Given the description of an element on the screen output the (x, y) to click on. 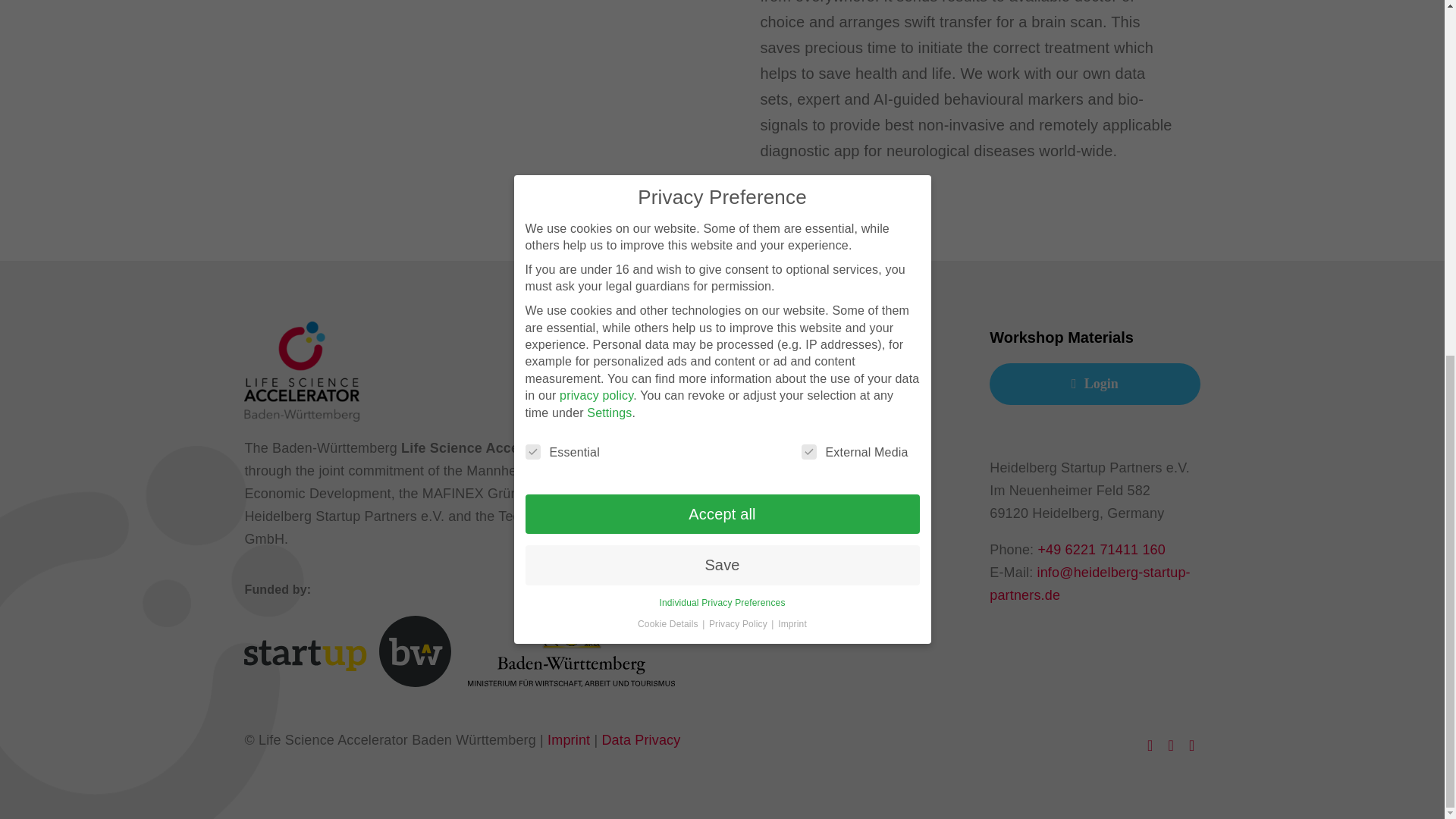
Email (1191, 744)
Privacy Policy (739, 2)
Our Startups (846, 479)
LinkedIn (1171, 744)
Data Privacy (640, 739)
Cookie Details (668, 2)
Twitter (1150, 744)
Login (1094, 383)
Program (846, 412)
Application (846, 445)
Contact (846, 546)
Imprint (568, 739)
Our Mentors (846, 513)
Home (846, 377)
